Given the description of an element on the screen output the (x, y) to click on. 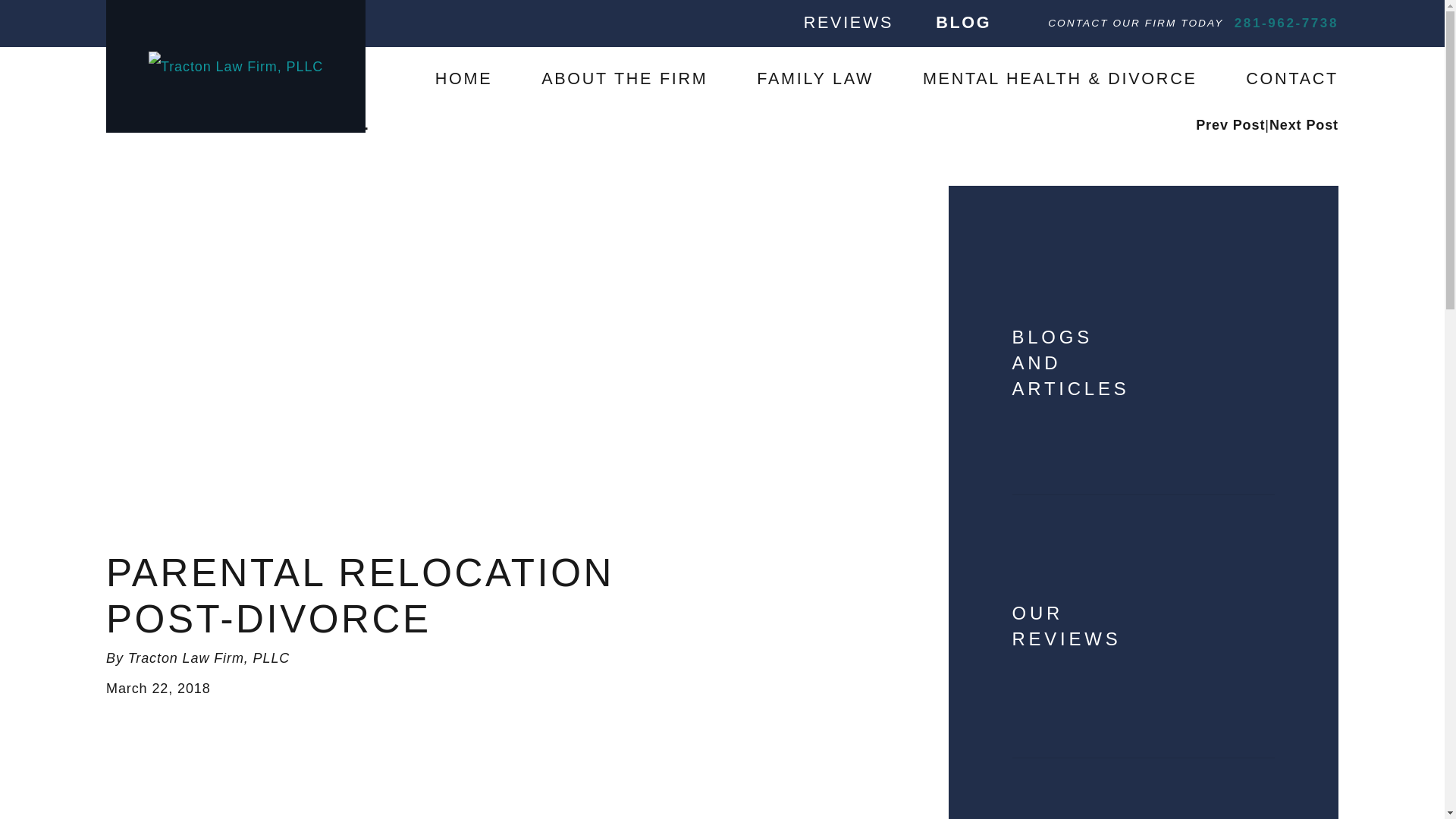
Open the accessibility options menu (31, 786)
Tracton Law Firm, PLLC (235, 66)
REVIEWS (848, 22)
ABOUT THE FIRM (624, 78)
FAMILY LAW (815, 78)
HOME (464, 78)
281-962-7738 (1286, 23)
BLOG (963, 22)
